Given the description of an element on the screen output the (x, y) to click on. 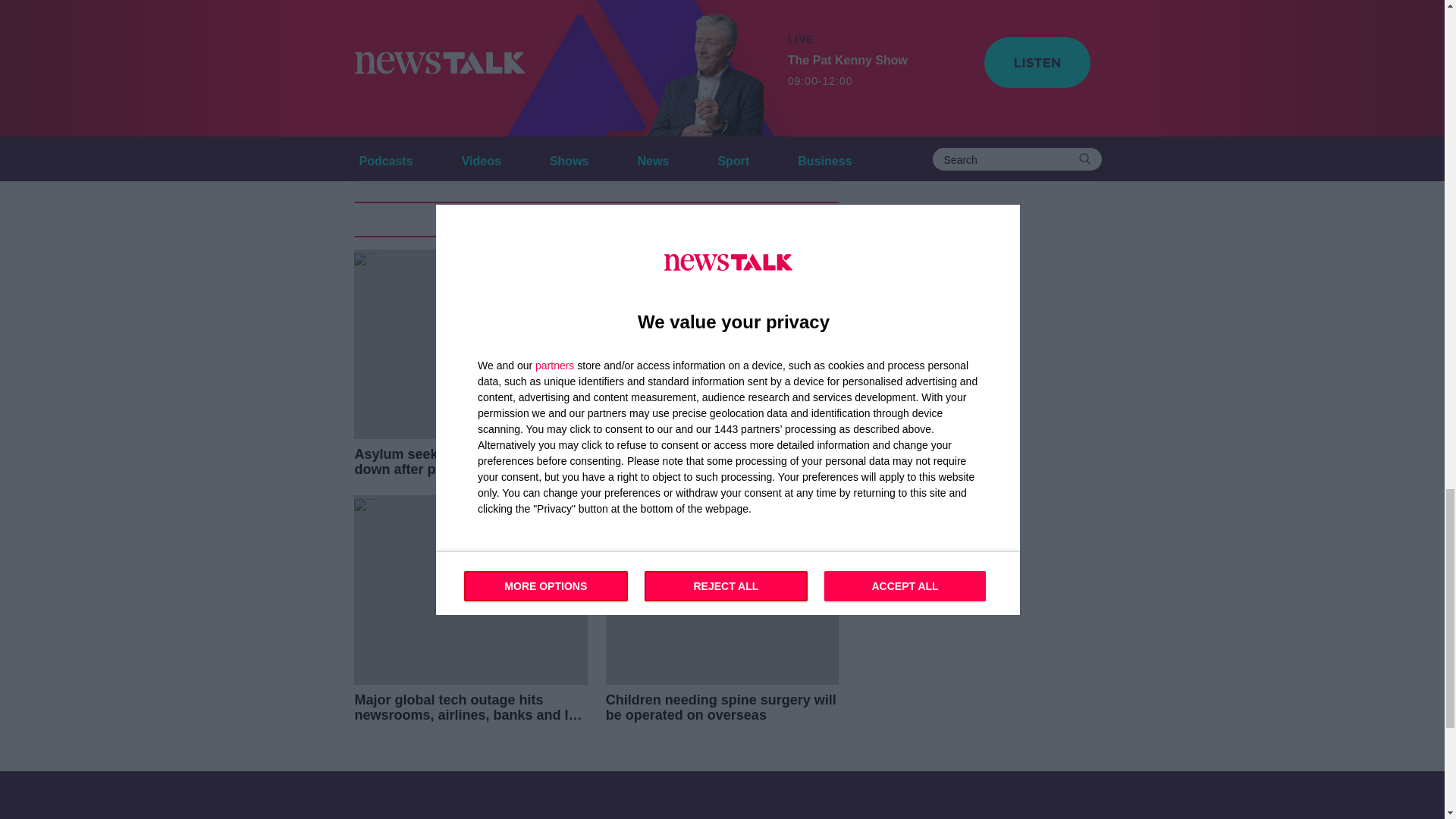
CITY CENTRE (396, 121)
CITY CENTRES (500, 121)
MESSAGING (392, 152)
NEWSTALK BREAKFAST (515, 152)
DUBLINTOWN (604, 121)
JULY STIMULUS PLAN (726, 121)
